Given the description of an element on the screen output the (x, y) to click on. 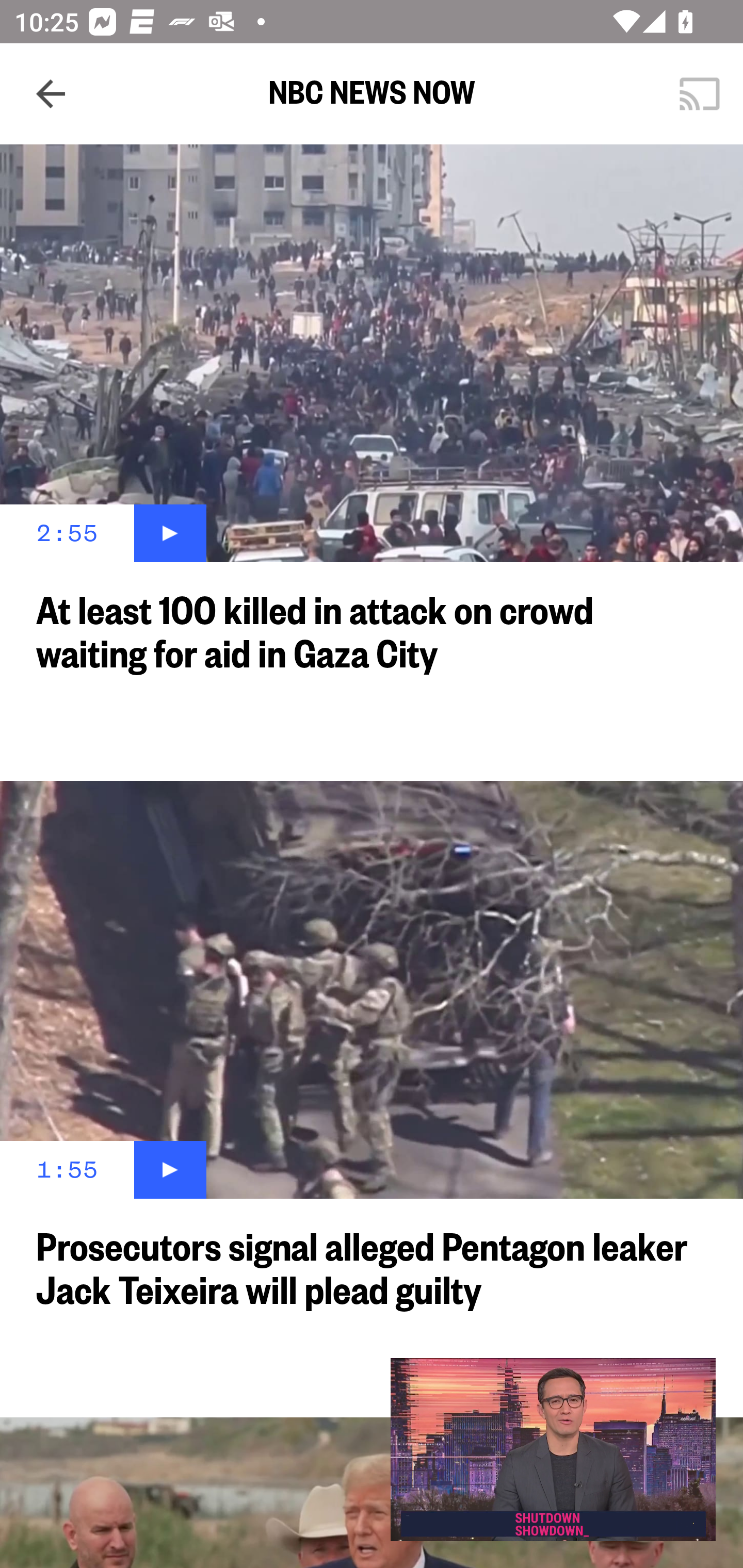
Navigate up (50, 93)
Cast. Disconnected (699, 93)
